Given the description of an element on the screen output the (x, y) to click on. 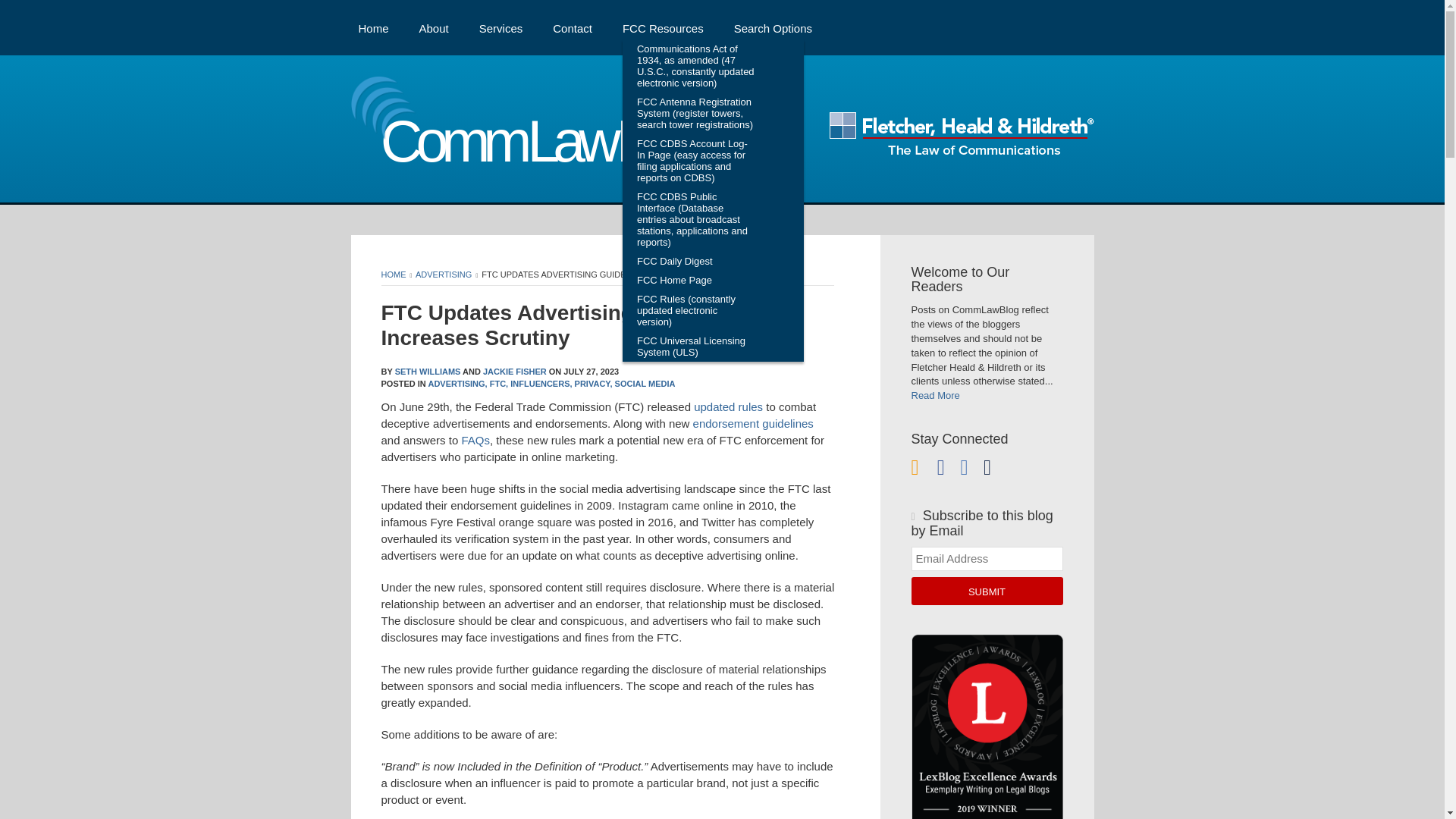
CommLawBlog (533, 145)
HOME (393, 274)
Search Options (772, 28)
JACKIE FISHER (515, 370)
FTC, (498, 383)
endorsement guidelines (753, 422)
SETH WILLIAMS (427, 370)
About (433, 28)
INFLUENCERS, (541, 383)
Services (500, 28)
